Given the description of an element on the screen output the (x, y) to click on. 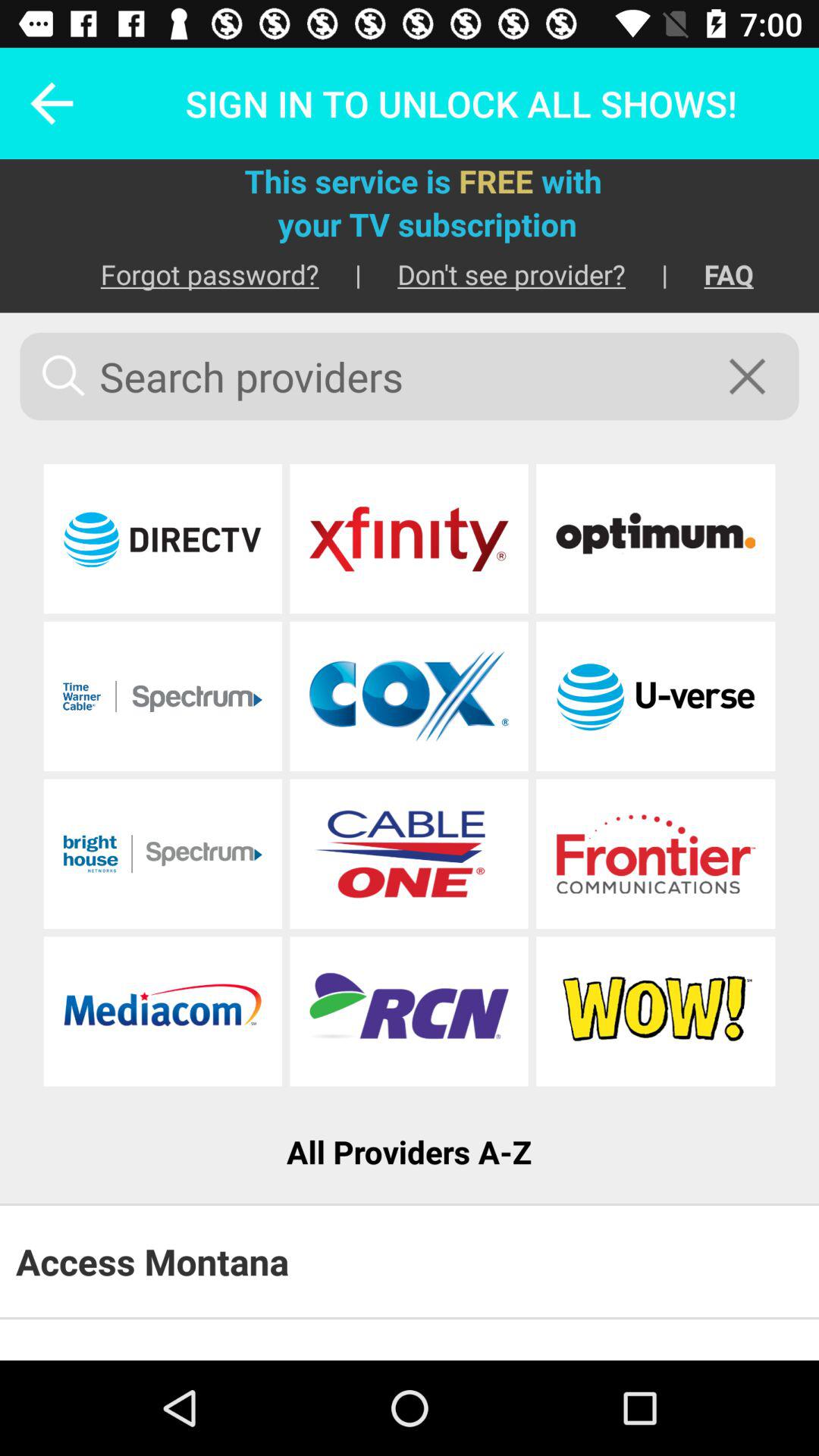
link to xfinity tv (408, 538)
